Given the description of an element on the screen output the (x, y) to click on. 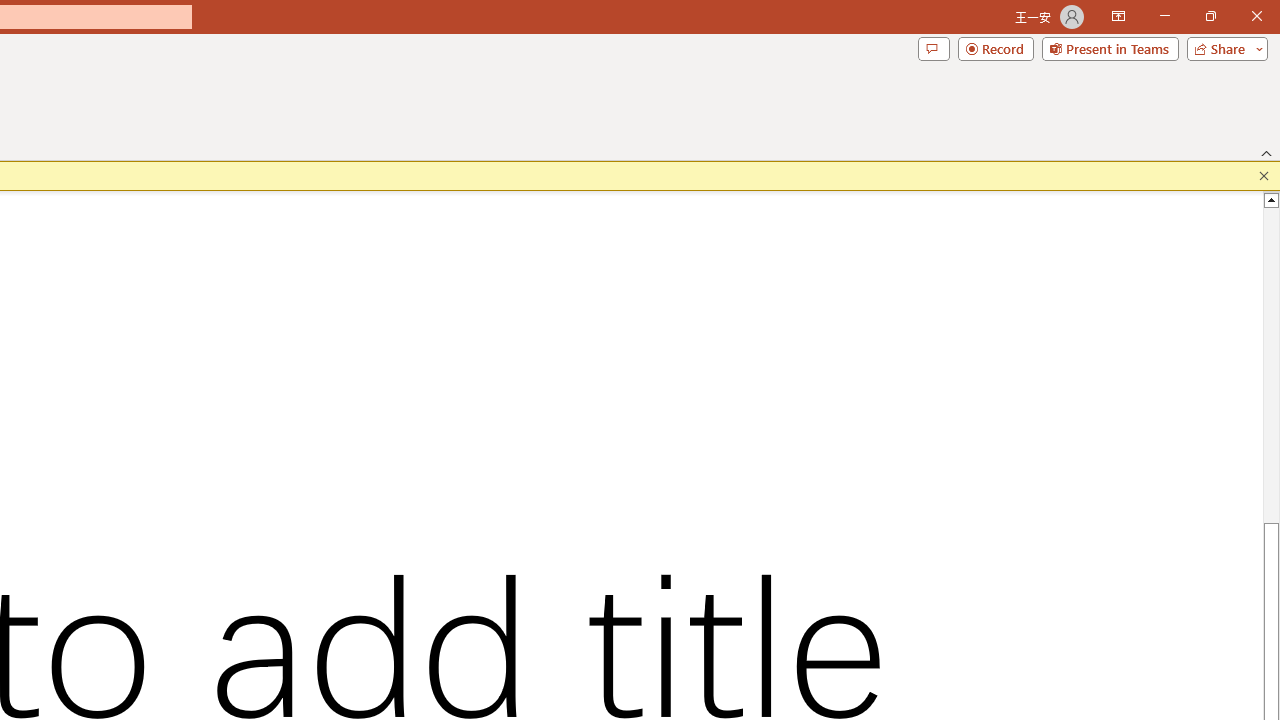
Close this message (1263, 176)
